Given the description of an element on the screen output the (x, y) to click on. 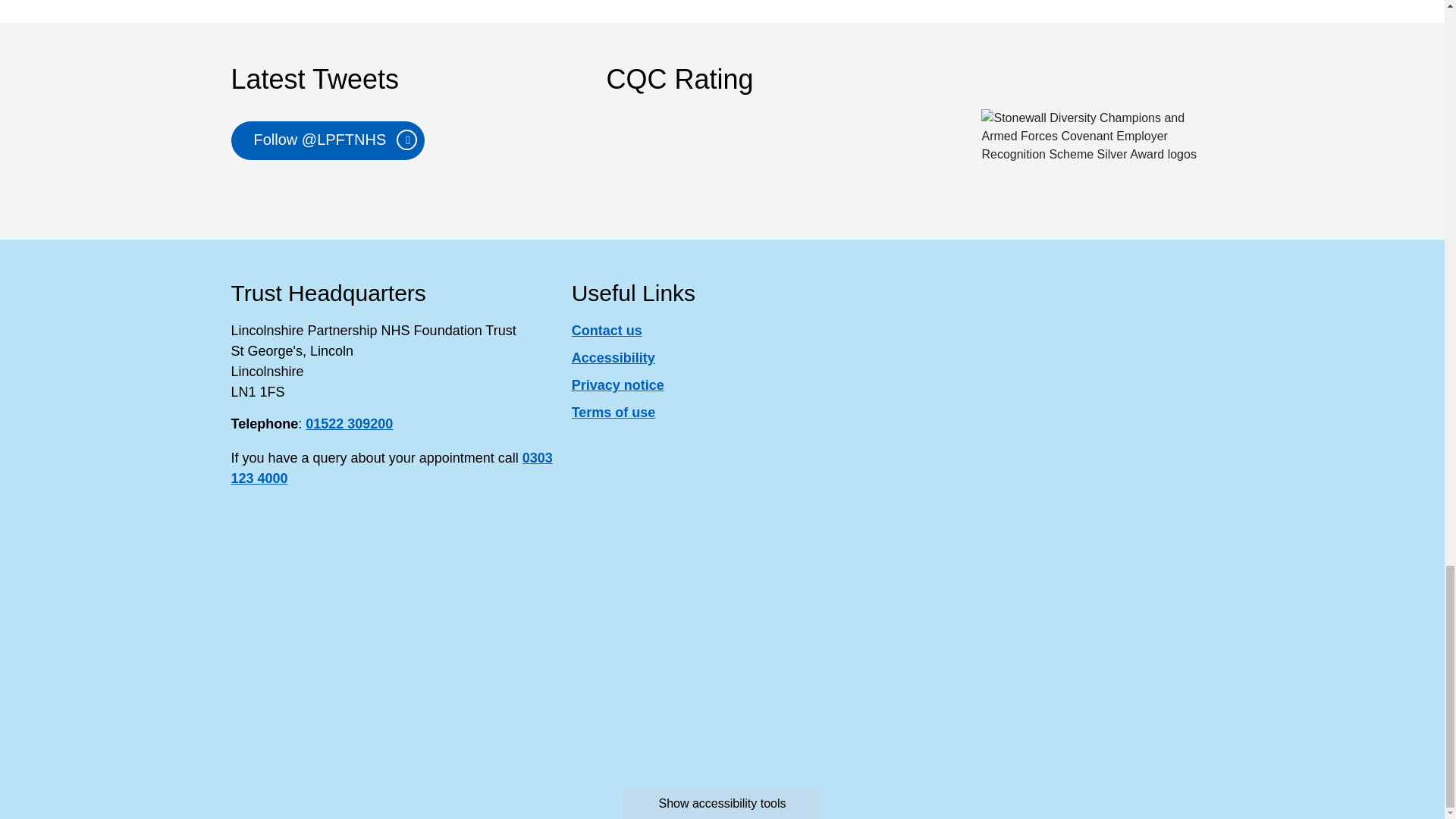
Telephone 03031234000 (390, 468)
Telephone 01522309200 (349, 423)
